Given the description of an element on the screen output the (x, y) to click on. 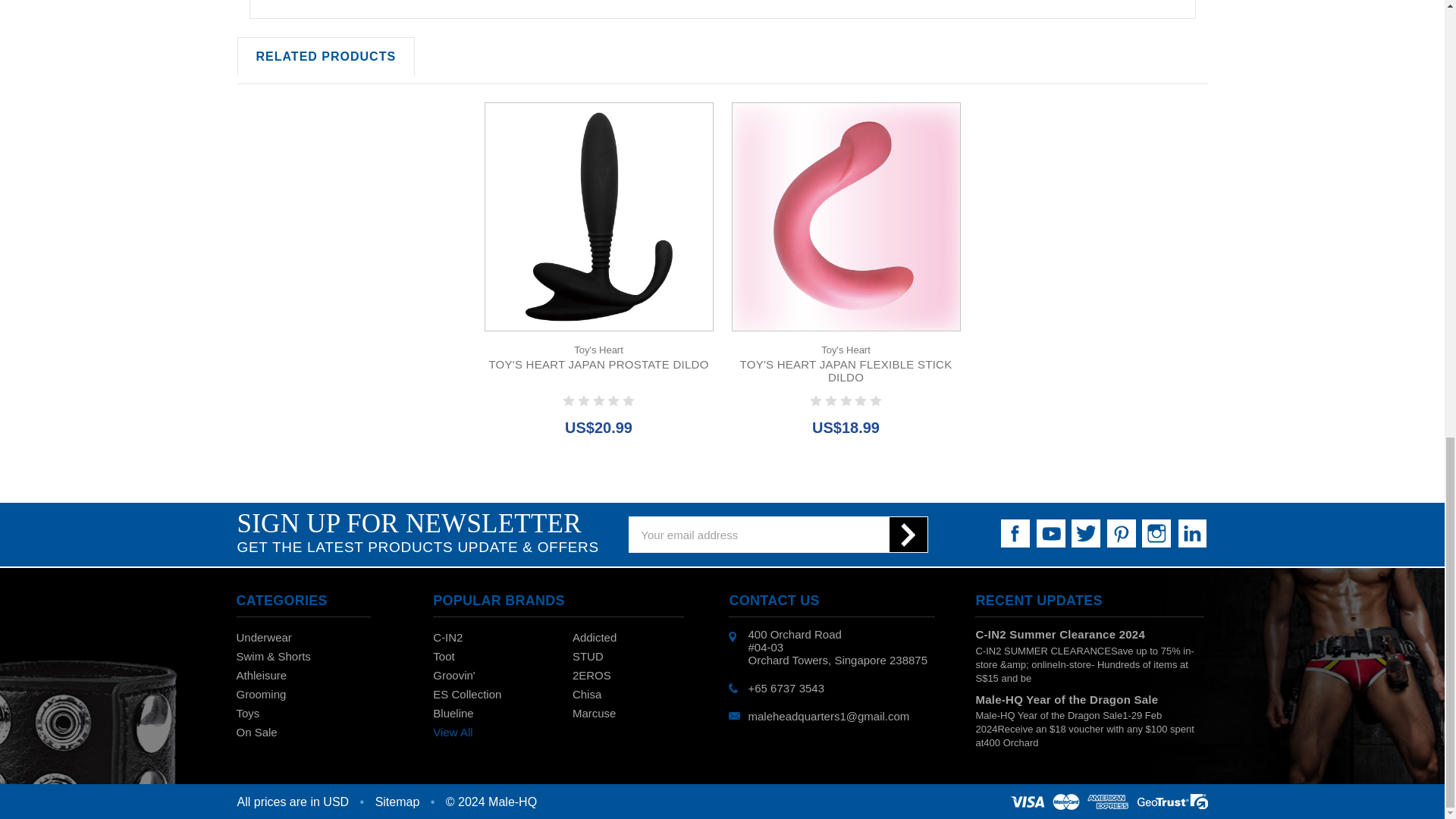
Facebook (1015, 533)
Toy's Heart Japan Prostate Dildo (598, 216)
Instagram (1155, 533)
Twitter (1085, 533)
LinkedIn (1190, 533)
YouTube (1050, 533)
GeoTrust (1109, 801)
Pinterest (1120, 533)
